Given the description of an element on the screen output the (x, y) to click on. 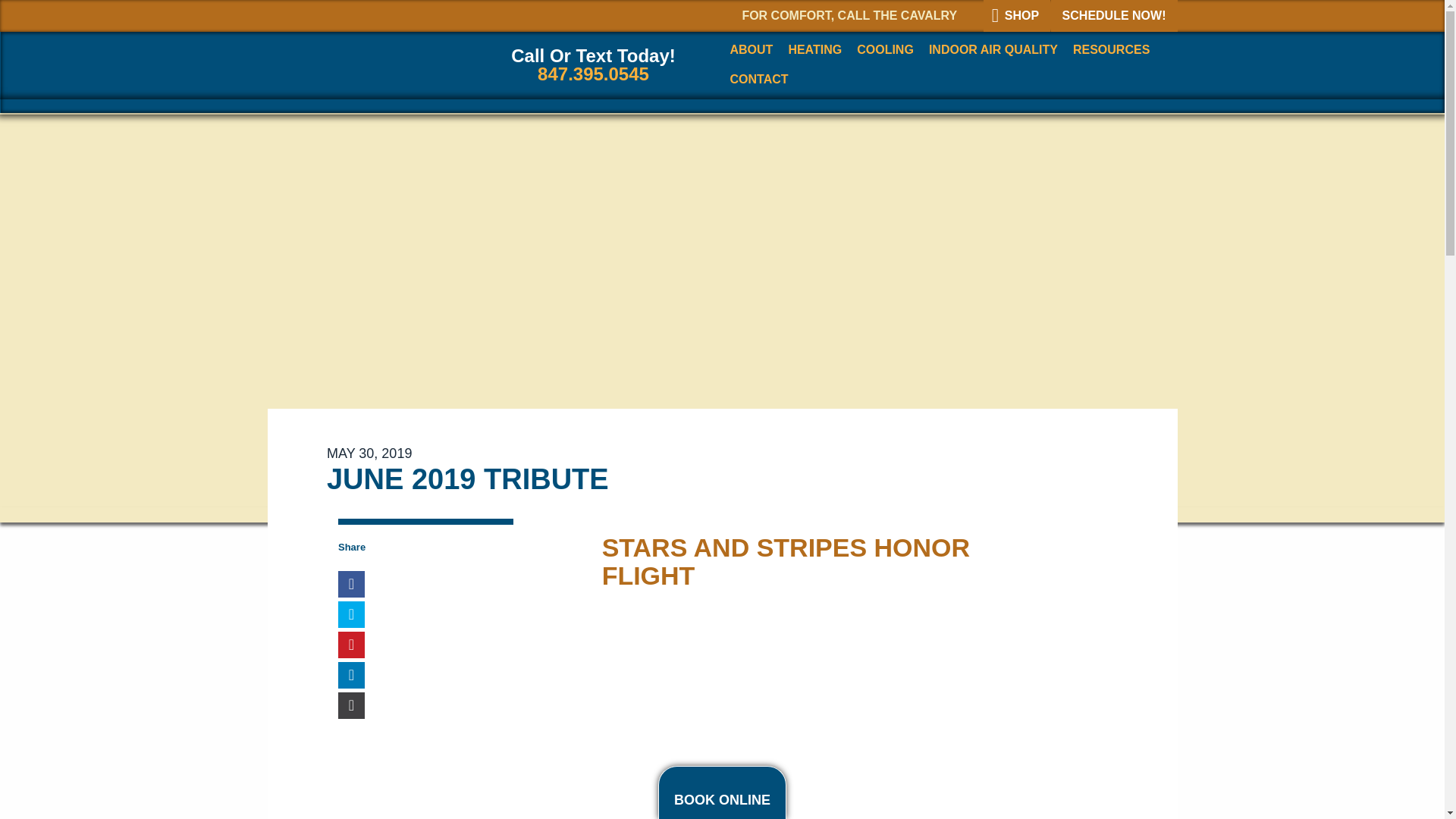
COOLING (884, 50)
RESOURCES (1111, 50)
Share on Twitter (351, 614)
Share on Facebook (351, 583)
Share via Email (351, 705)
Share on LinkedIn (351, 674)
HEATING (814, 50)
CONTACT (754, 79)
SCHEDULE NOW! (1114, 15)
847.395.0545 (593, 73)
